Given the description of an element on the screen output the (x, y) to click on. 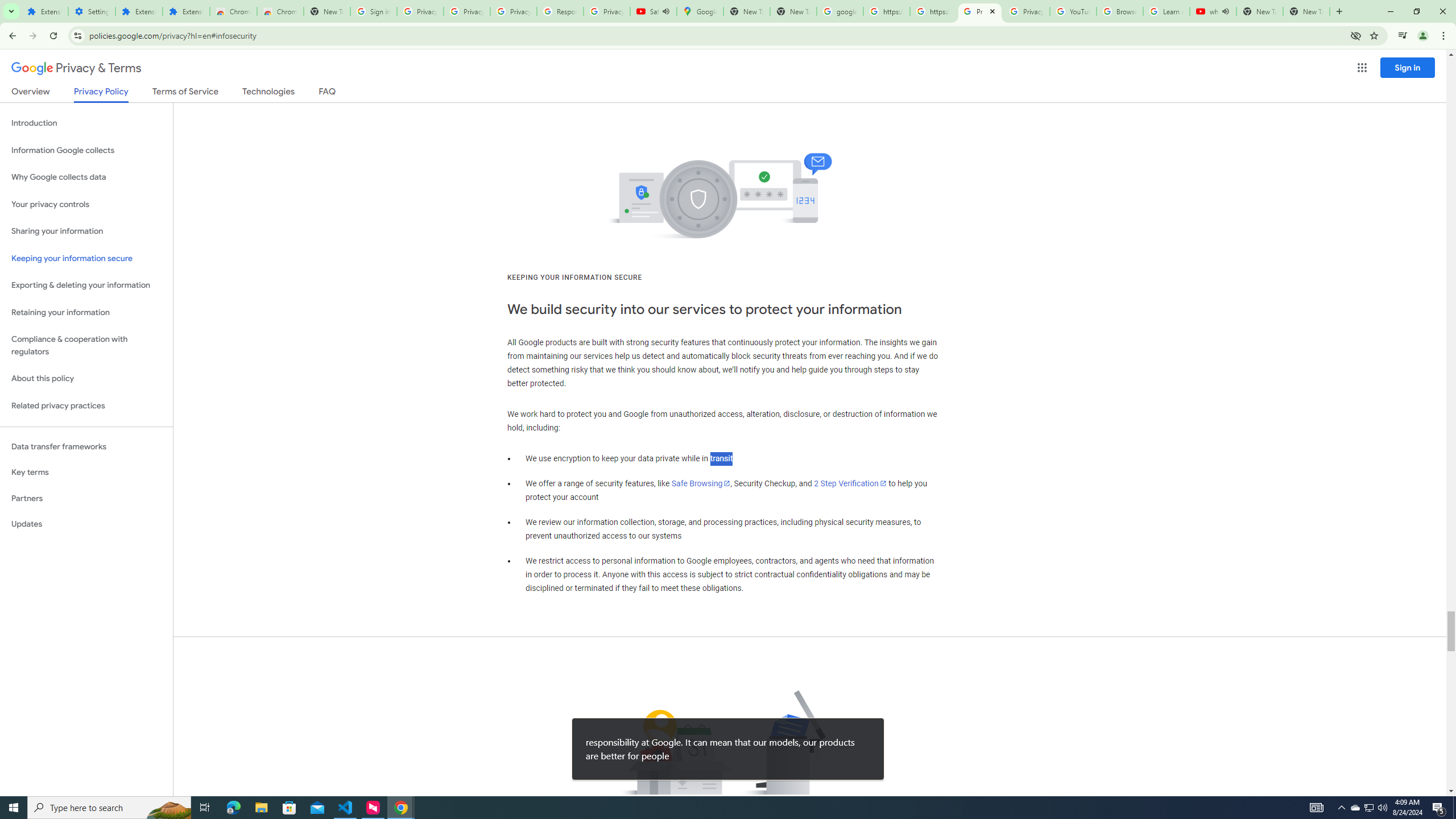
Sharing your information (86, 230)
Extensions (138, 11)
New Tab (326, 11)
Why Google collects data (86, 176)
Safe Browsing (700, 483)
2 Step Verification (849, 483)
Related privacy practices (86, 405)
YouTube (1073, 11)
